Given the description of an element on the screen output the (x, y) to click on. 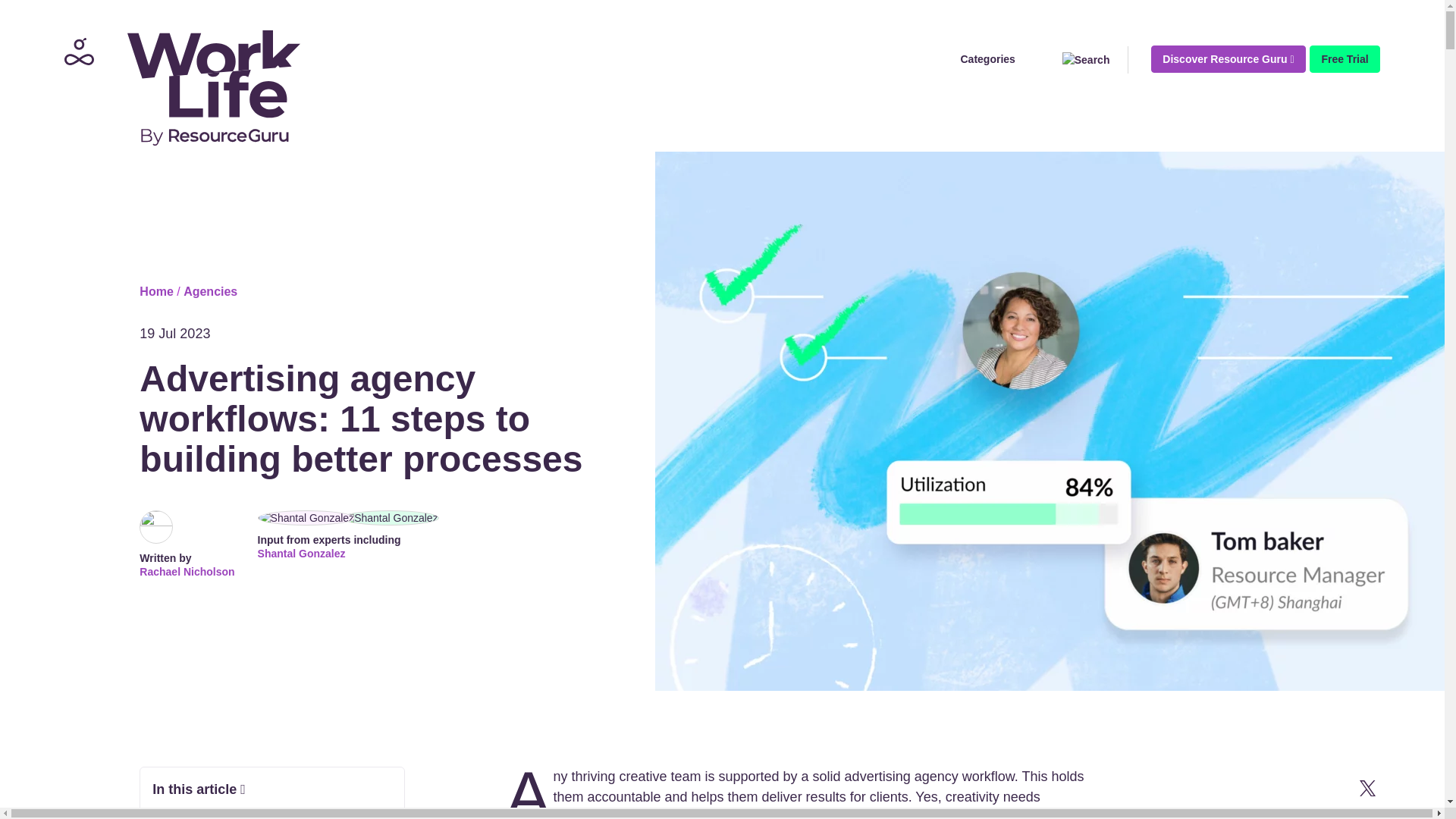
Resource Guru (178, 87)
Home (156, 291)
Agencies (210, 291)
Shantal Gonzalez (348, 553)
Posts by Rachael Nicholson (186, 571)
Rachael Nicholson (186, 571)
Free Trial (1343, 58)
